Given the description of an element on the screen output the (x, y) to click on. 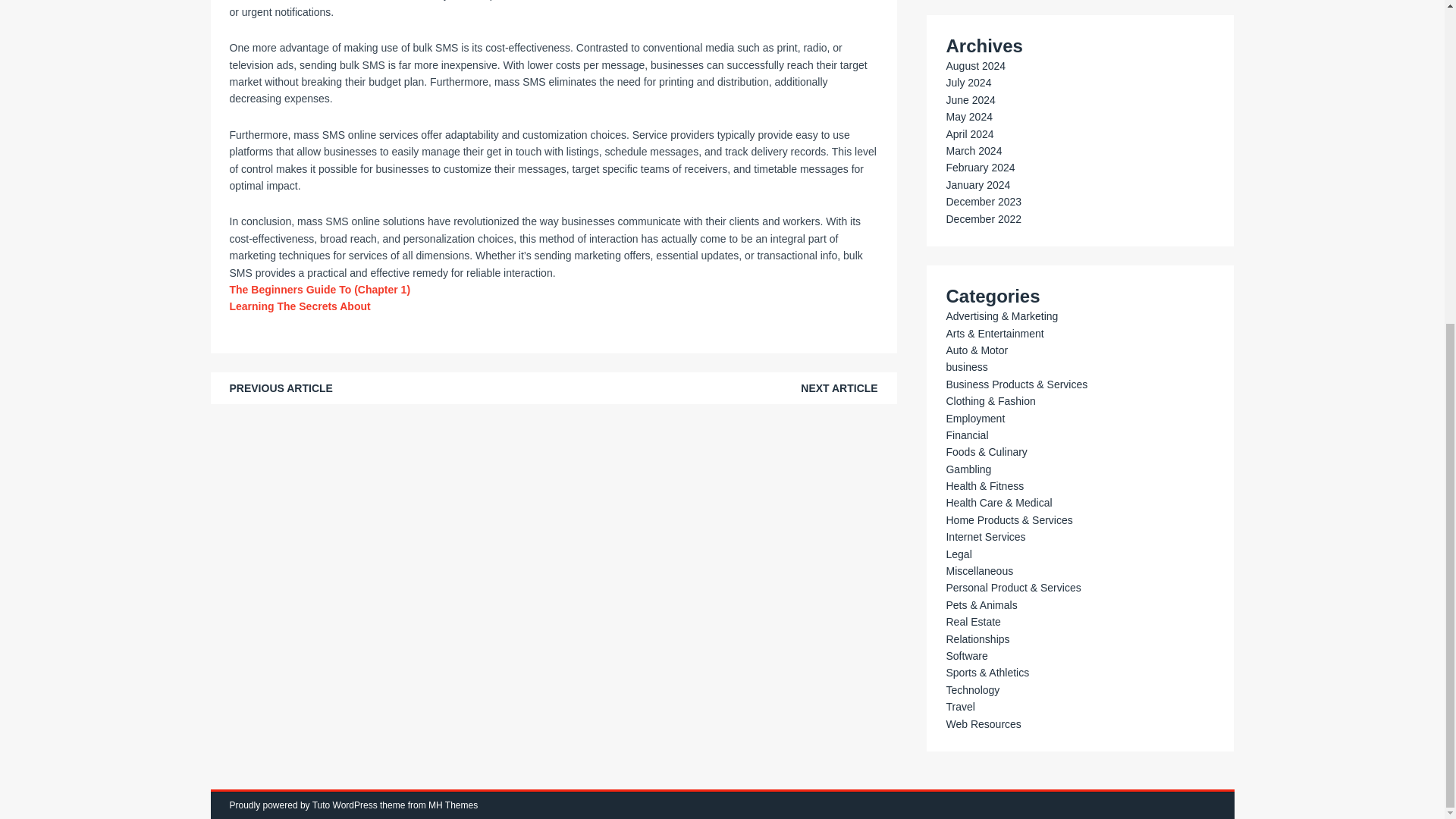
business (965, 367)
February 2024 (979, 167)
Learning The Secrets About (298, 306)
NEXT ARTICLE (838, 387)
Financial (966, 435)
May 2024 (967, 116)
PREVIOUS ARTICLE (279, 387)
December 2022 (983, 218)
March 2024 (972, 150)
August 2024 (975, 65)
